Given the description of an element on the screen output the (x, y) to click on. 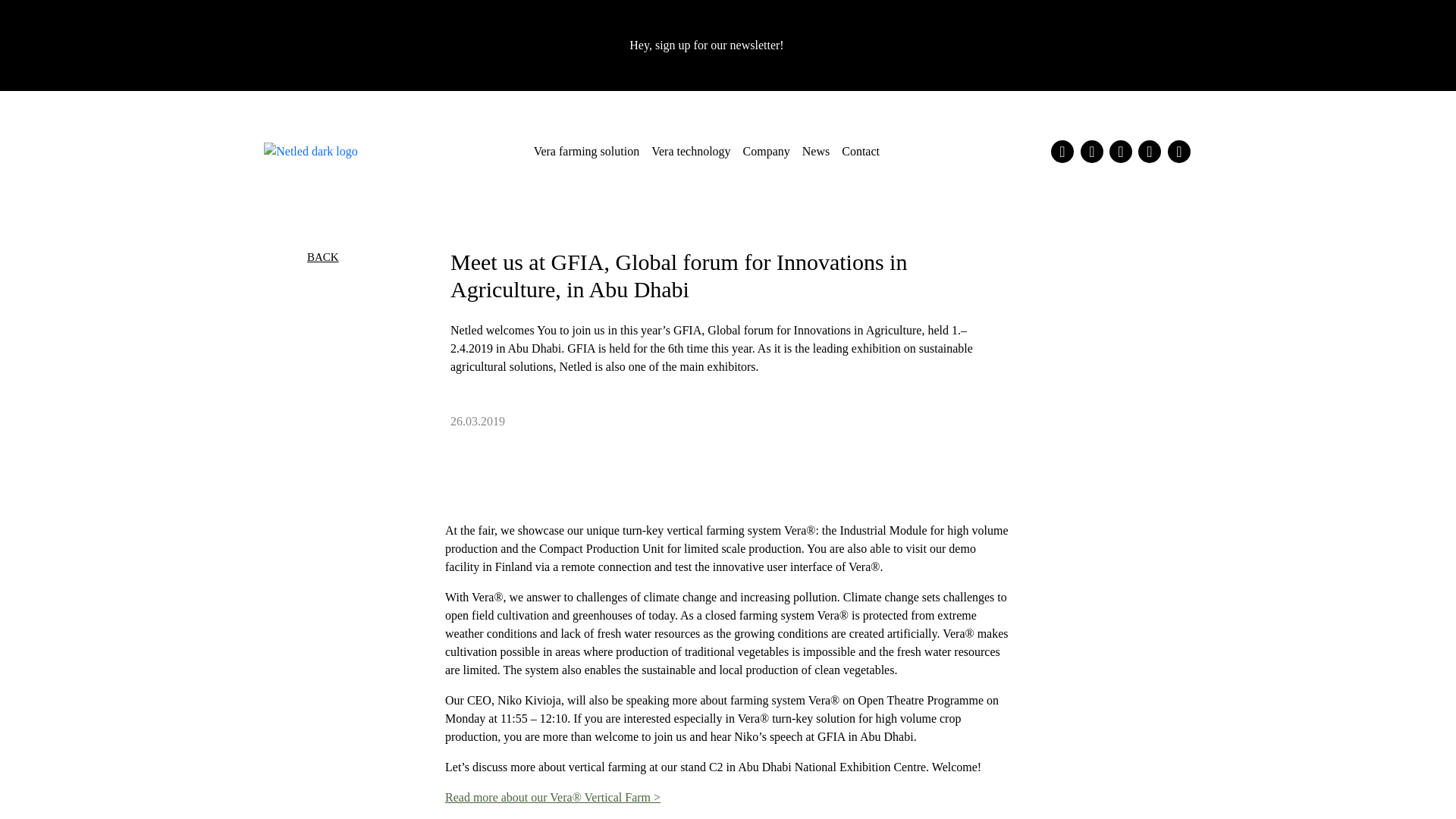
Netled social media link (1062, 151)
Netled social media link (1120, 151)
News (815, 151)
Vera farming solution (587, 151)
Contact (860, 151)
BACK (323, 256)
Netled social media link (1091, 151)
Hey, sign up for our newsletter! (726, 45)
Vera technology (690, 151)
Netled social media link (1149, 151)
